Given the description of an element on the screen output the (x, y) to click on. 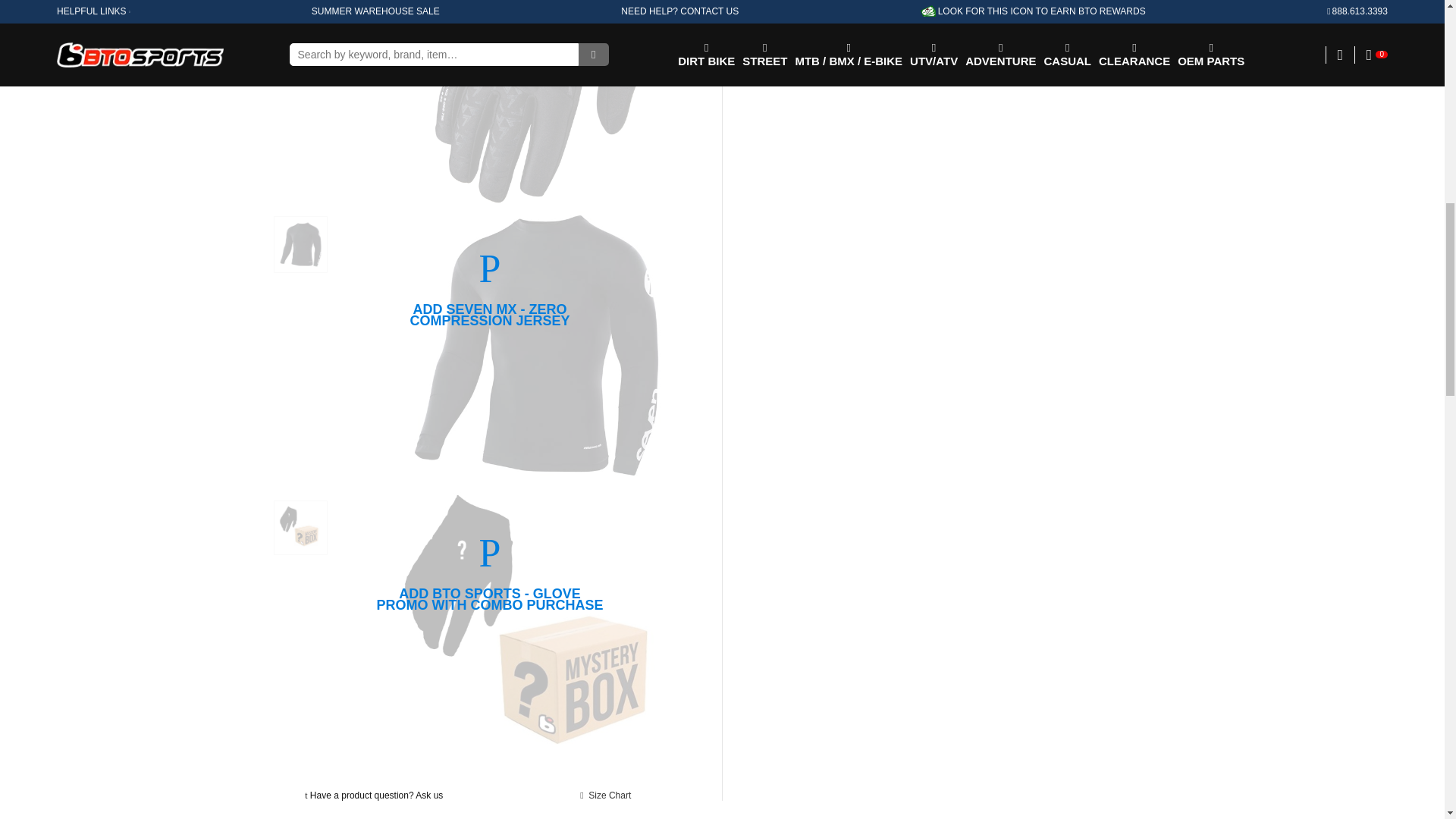
Add Seven MX - Zero Compression Jersey (489, 269)
Add BTO Sports - Glove Promo with Combo Purchase (489, 553)
Add Seven MX - Zero WP Glove (489, 2)
